Given the description of an element on the screen output the (x, y) to click on. 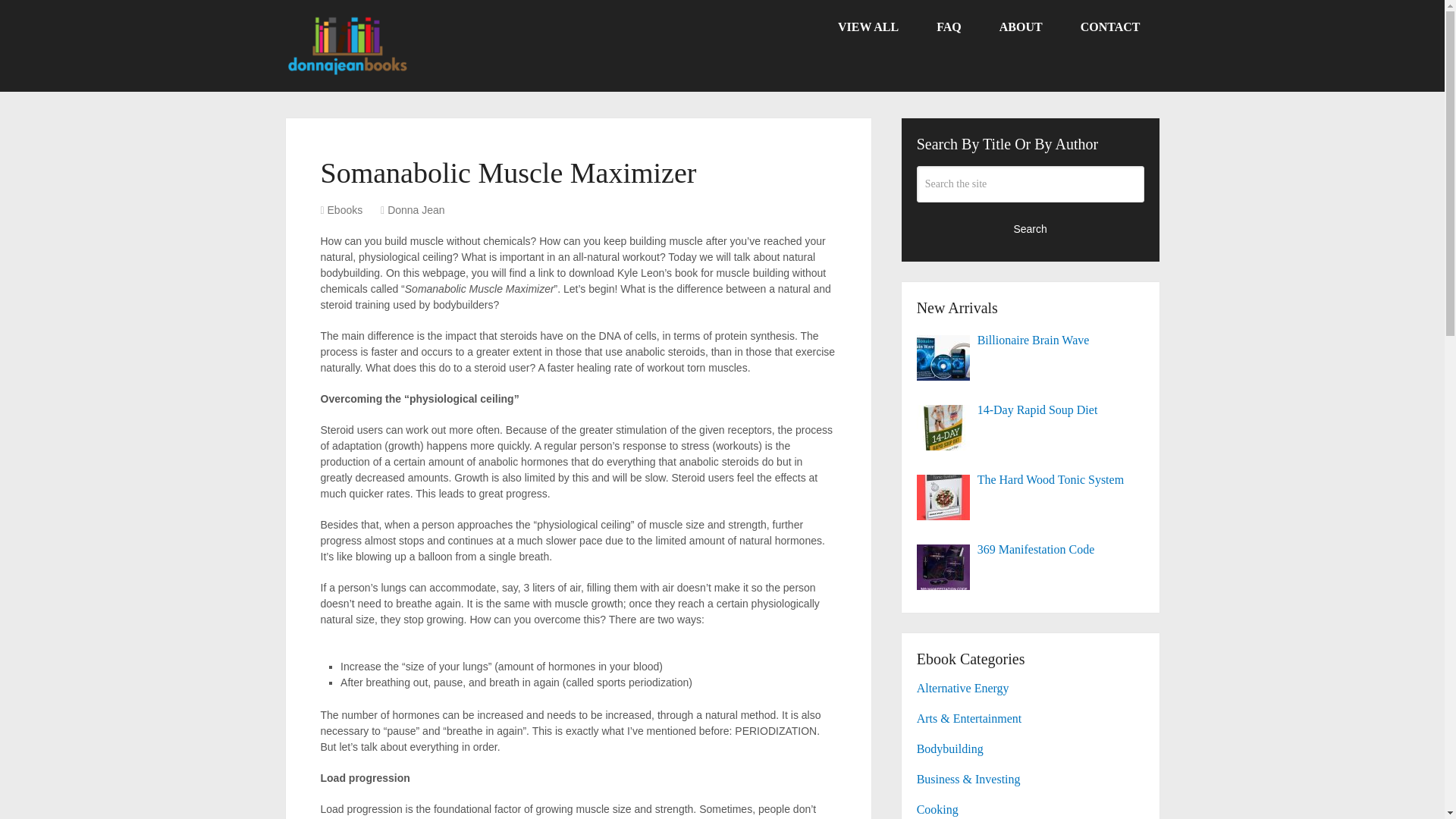
The Hard Wood Tonic System (1030, 479)
Bodybuilding (950, 748)
Billionaire Brain Wave (1030, 340)
Contact Us (1109, 27)
Frequently Asked Questions (948, 27)
CONTACT (1109, 27)
Search (1030, 227)
Posts by Donna Jean (416, 209)
VIEW ALL (867, 27)
Ebooks (344, 209)
Alternative Energy (963, 687)
Cooking (937, 809)
About Donna Jean Books (1020, 27)
Donna Jean (416, 209)
ABOUT (1020, 27)
